Given the description of an element on the screen output the (x, y) to click on. 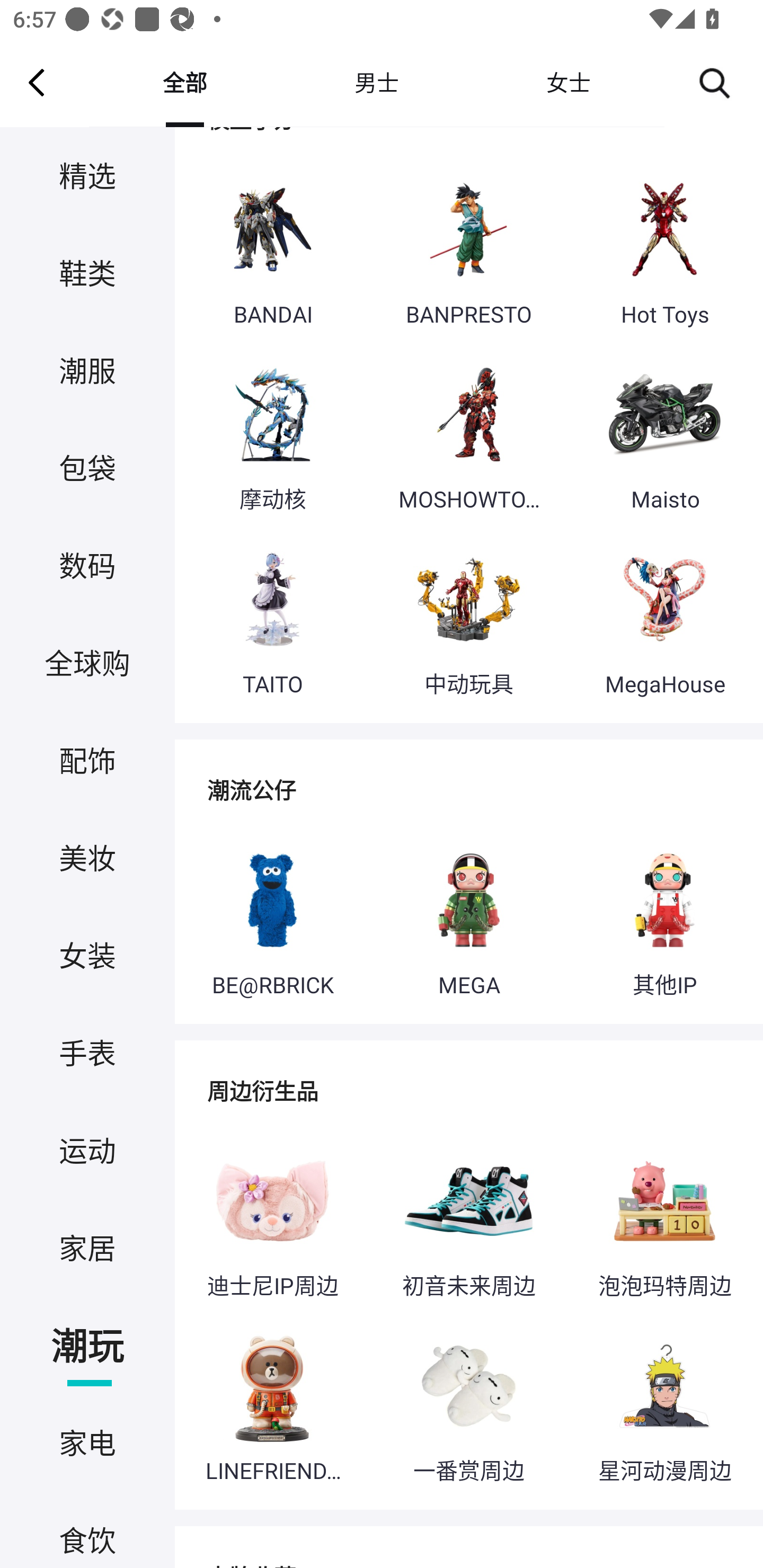
Navigate up (36, 82)
全部 (184, 82)
男士 (376, 82)
女士 (568, 82)
BANDAI (272, 250)
BANPRESTO (468, 250)
Hot Toys (664, 250)
摩动核 (272, 435)
MOSHOWTOYS (468, 435)
Maisto (664, 435)
TAITO (272, 620)
中动玩具 (468, 620)
MegaHouse (664, 620)
BE@RBRICK (272, 921)
MEGA (468, 921)
其他IP (664, 921)
迪士尼IP周边 (272, 1222)
初音未来周边 (468, 1222)
泡泡玛特周边 (664, 1222)
LINEFRIENDS周边 (272, 1407)
一番赏周边 (468, 1407)
星河动漫周边 (664, 1407)
